Given the description of an element on the screen output the (x, y) to click on. 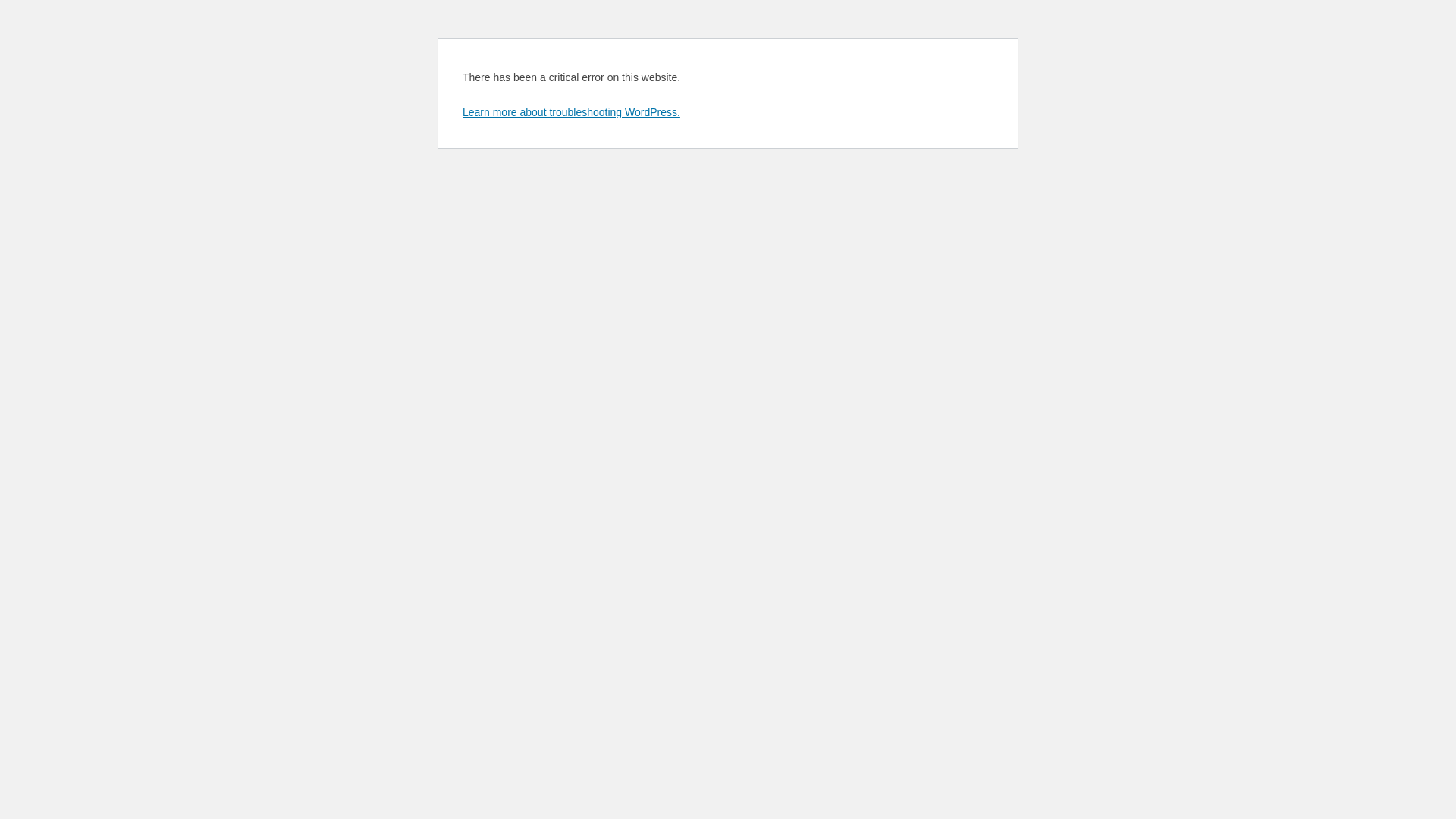
Learn more about troubleshooting WordPress. Element type: text (571, 112)
